Given the description of an element on the screen output the (x, y) to click on. 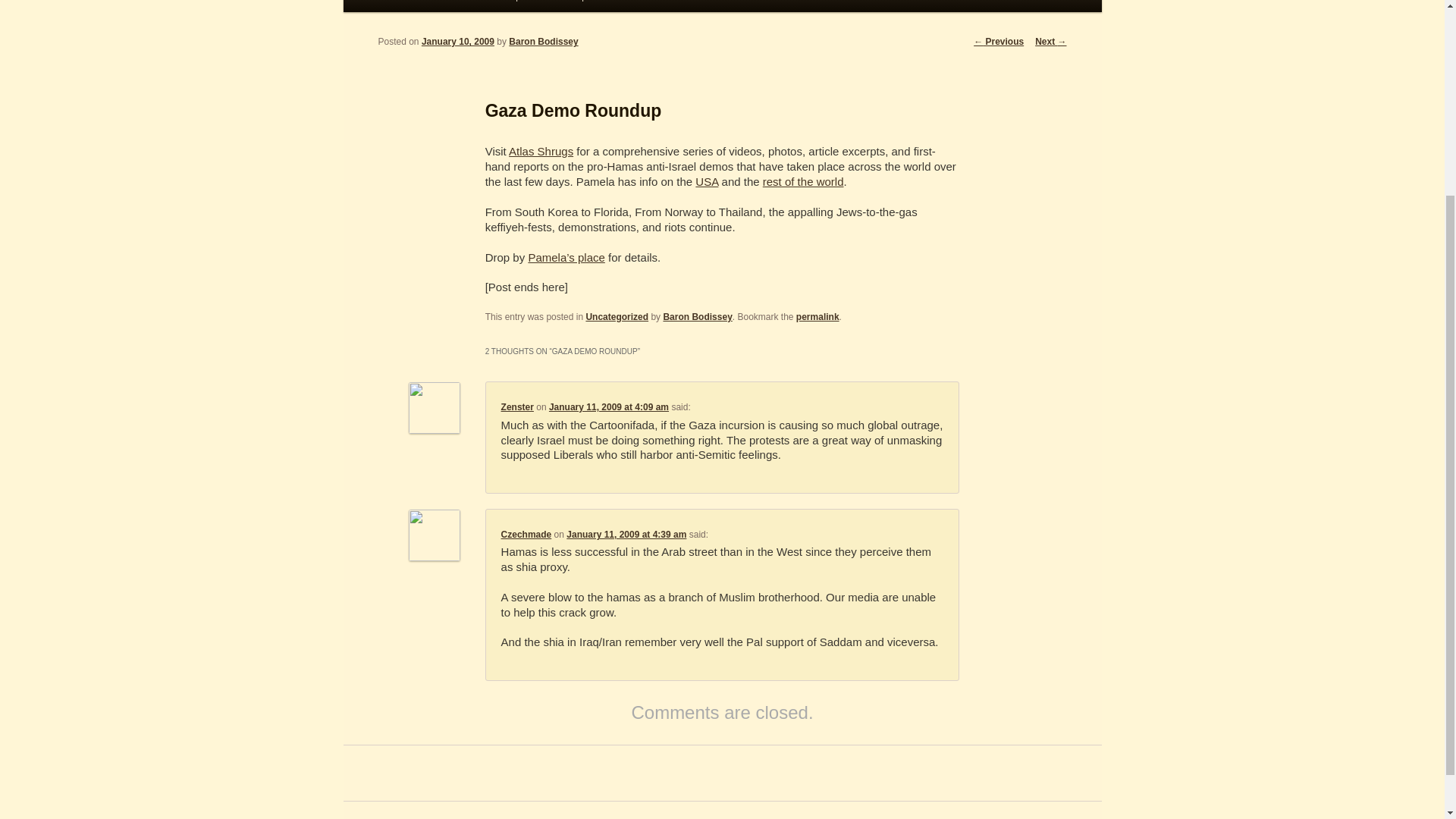
Skip to secondary content (479, 9)
Skip to primary content (472, 9)
Skip to primary content (472, 9)
Skip to secondary content (479, 9)
Home (416, 6)
Repression (526, 6)
Topical (585, 6)
View all posts by Baron Bodissey (543, 41)
Authors (466, 6)
10:30 pm (458, 41)
